Given the description of an element on the screen output the (x, y) to click on. 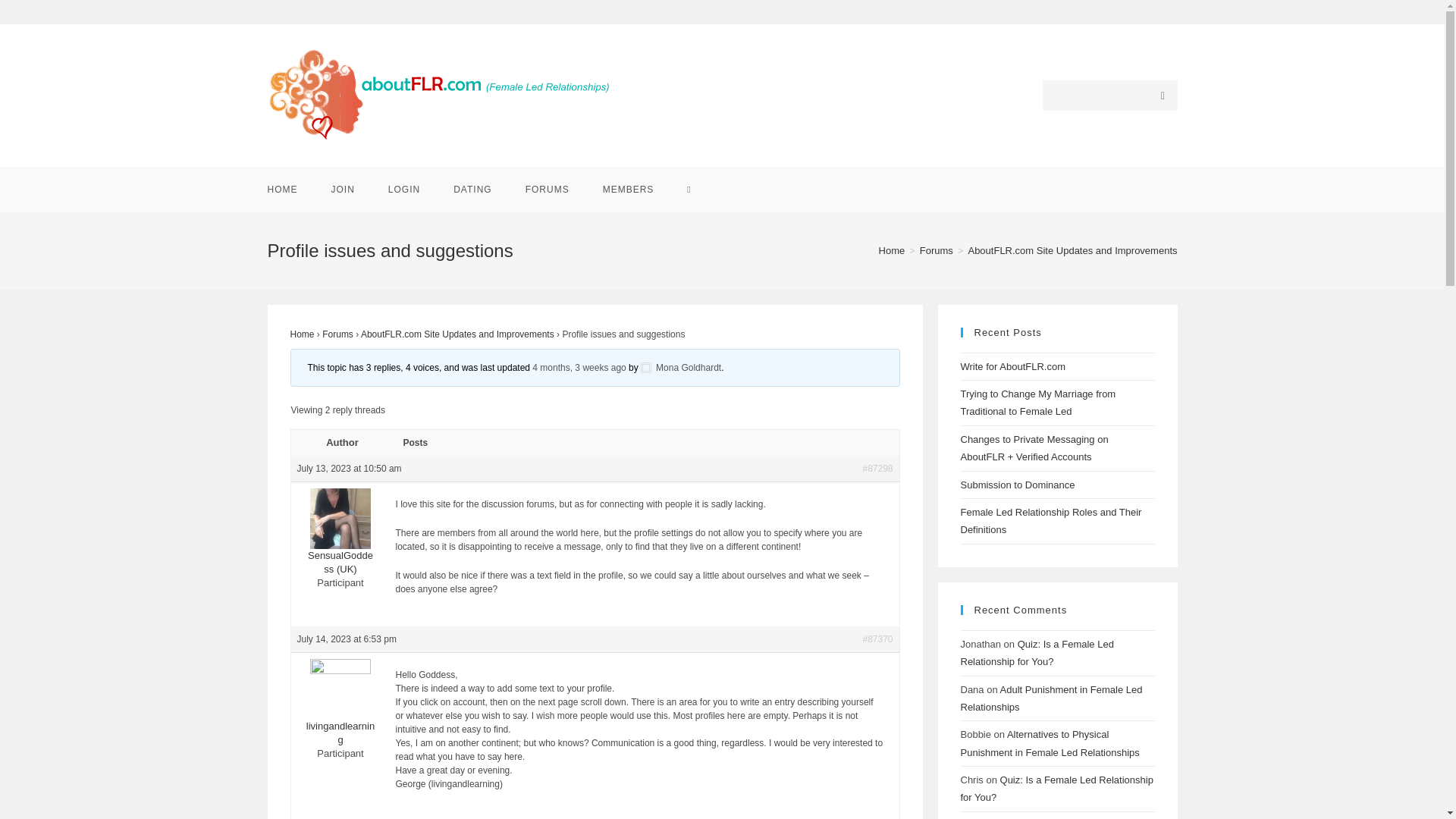
LOGIN (403, 189)
Forums (936, 250)
MEMBERS (628, 189)
JOIN (342, 189)
FORUMS (547, 189)
HOME (282, 189)
View livingandlearning's profile (340, 715)
Reply To: Profile issues and suggestions (579, 367)
DATING (472, 189)
AboutFLR.com Site Updates and Improvements (1072, 250)
View Mona Goldhardt's profile (680, 367)
Home (892, 250)
